Given the description of an element on the screen output the (x, y) to click on. 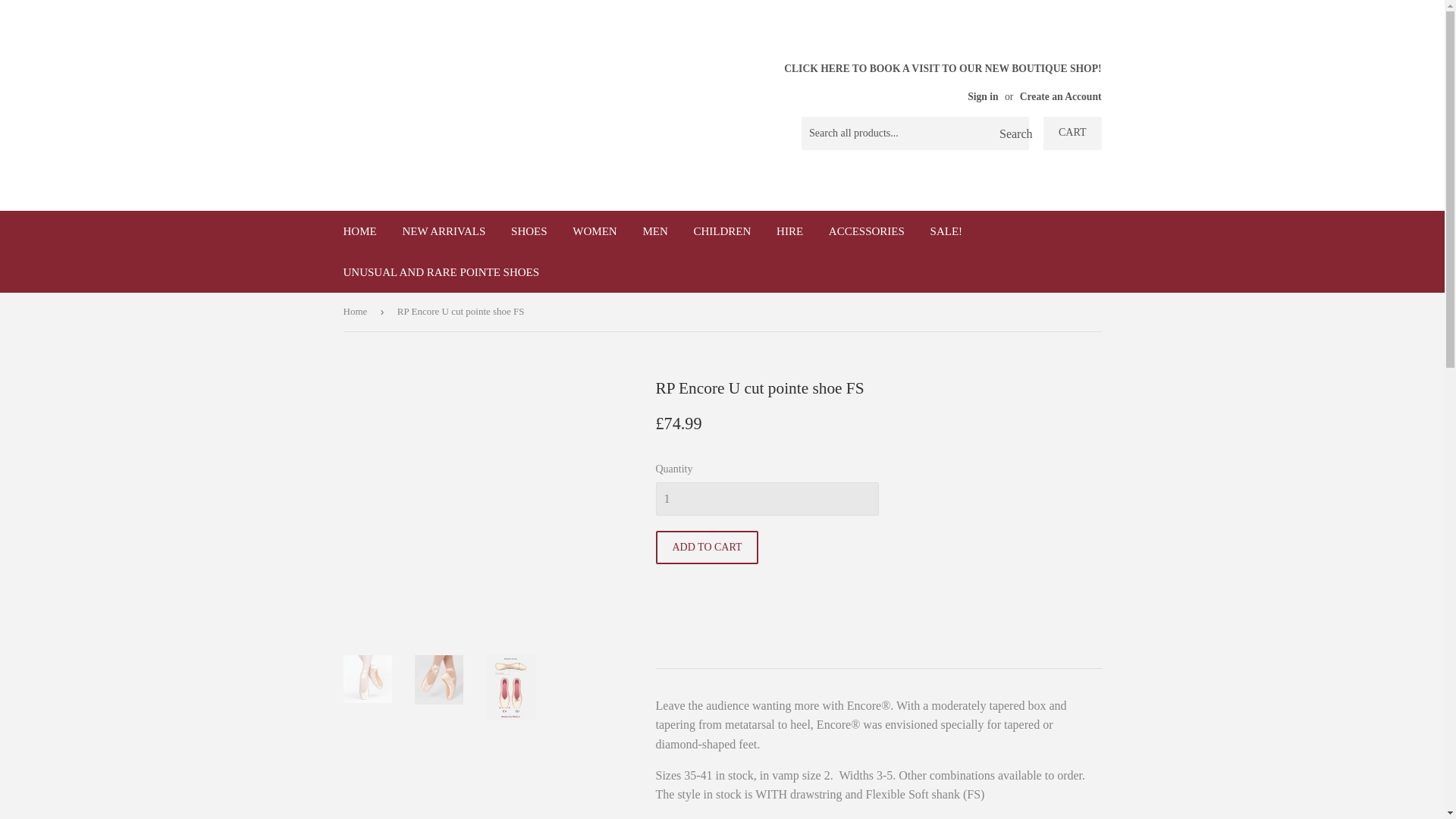
CART (1072, 133)
1 (766, 498)
Sign in (982, 96)
Search (1011, 133)
CLICK HERE TO BOOK A VISIT TO OUR NEW BOUTIQUE SHOP! (942, 81)
Create an Account (1061, 96)
